Given the description of an element on the screen output the (x, y) to click on. 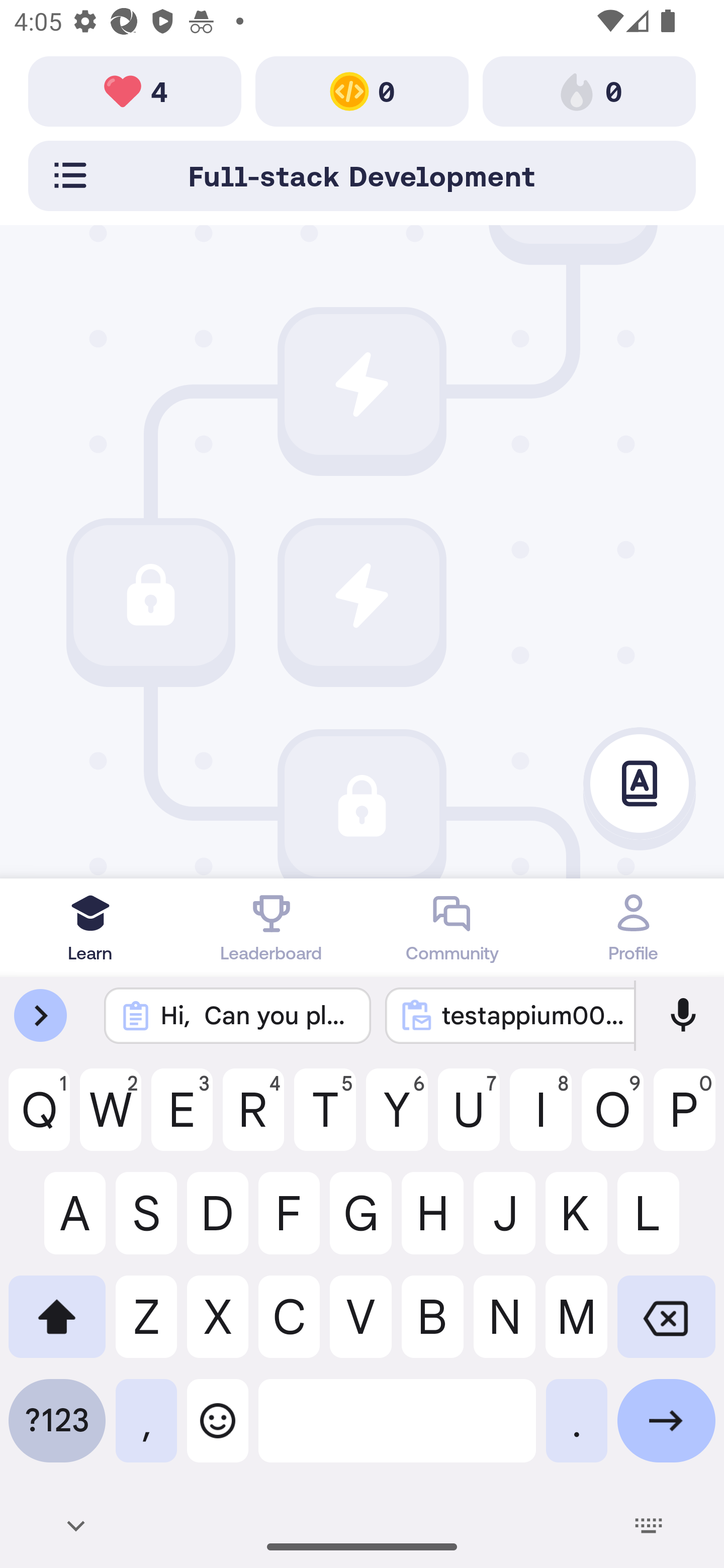
Path Toolbar Image 4 (134, 90)
Path Toolbar Image 0 (361, 90)
Path Toolbar Image 0 (588, 90)
Path Toolbar Selector Full-stack Development (361, 175)
Path Icon (361, 383)
Path Icon (150, 595)
Path Icon (361, 595)
Glossary Icon (639, 783)
Path Icon (361, 806)
Leaderboard (271, 927)
Community (452, 927)
Profile (633, 927)
